Given the description of an element on the screen output the (x, y) to click on. 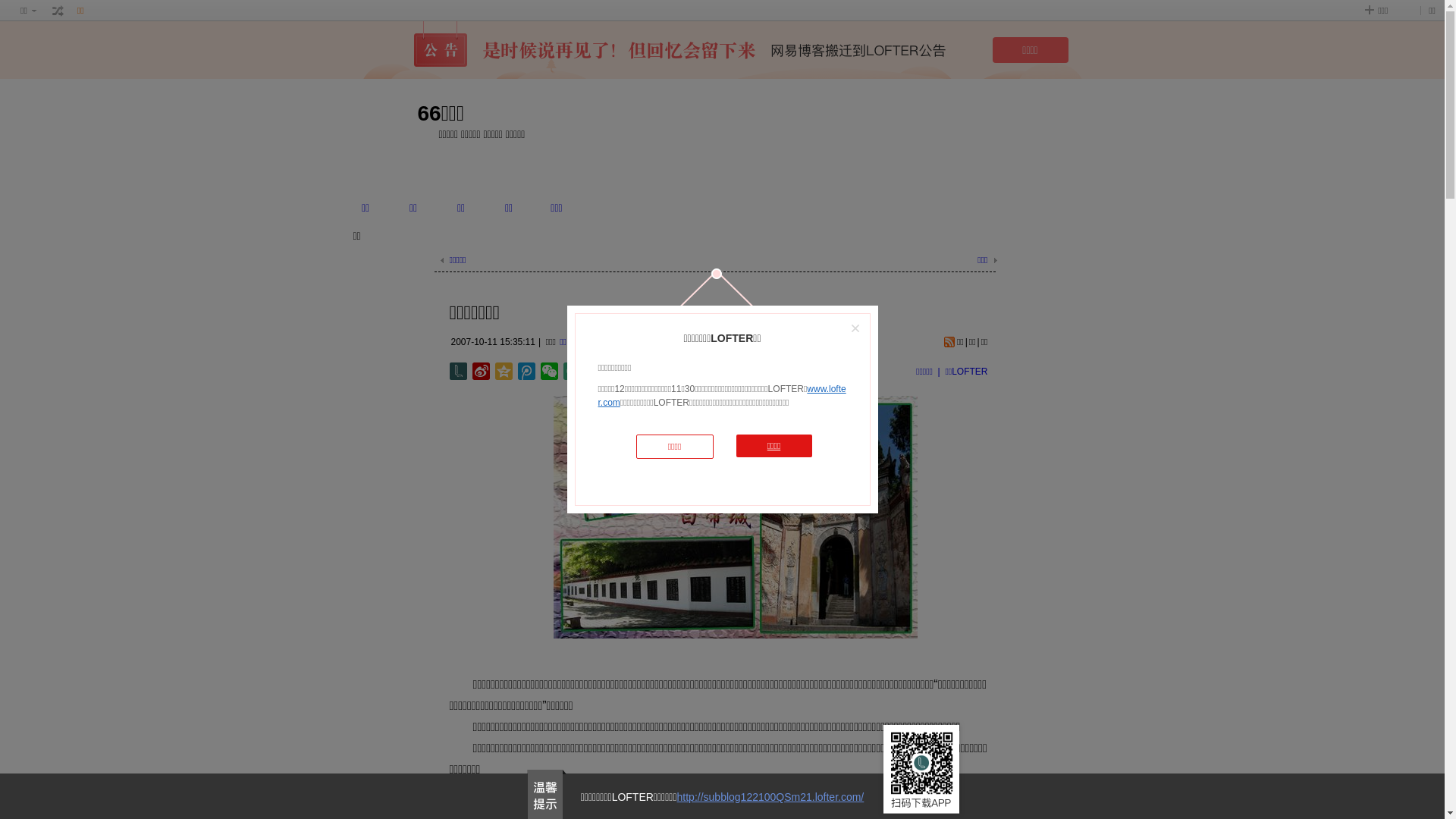
http://subblog122100QSm21.lofter.com/ Element type: text (770, 796)
  Element type: text (58, 10)
www.lofter.com Element type: text (721, 395)
